Given the description of an element on the screen output the (x, y) to click on. 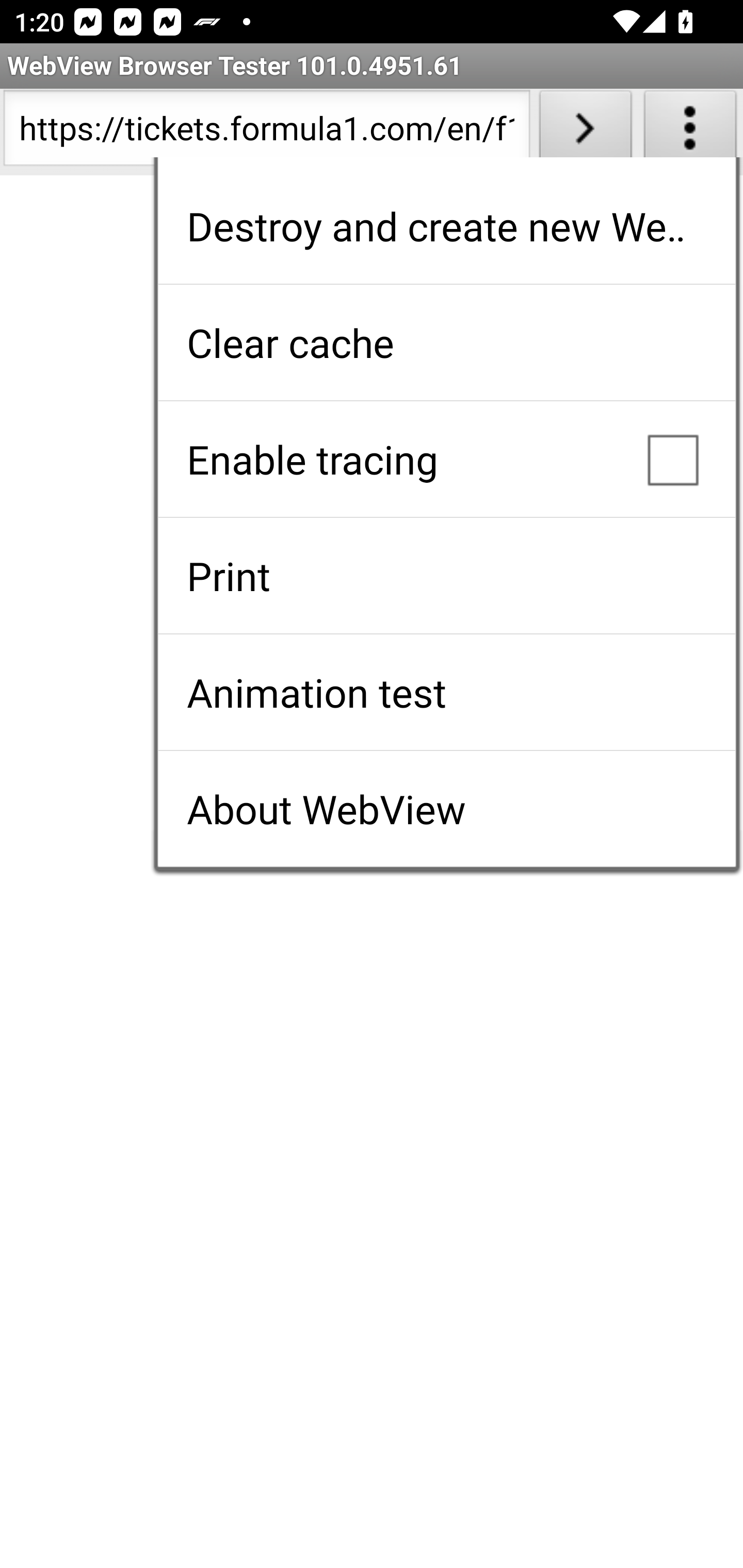
Destroy and create new WebView (446, 225)
Clear cache (446, 342)
Enable tracing (446, 459)
Print (446, 575)
Animation test (446, 692)
About WebView (446, 809)
